Given the description of an element on the screen output the (x, y) to click on. 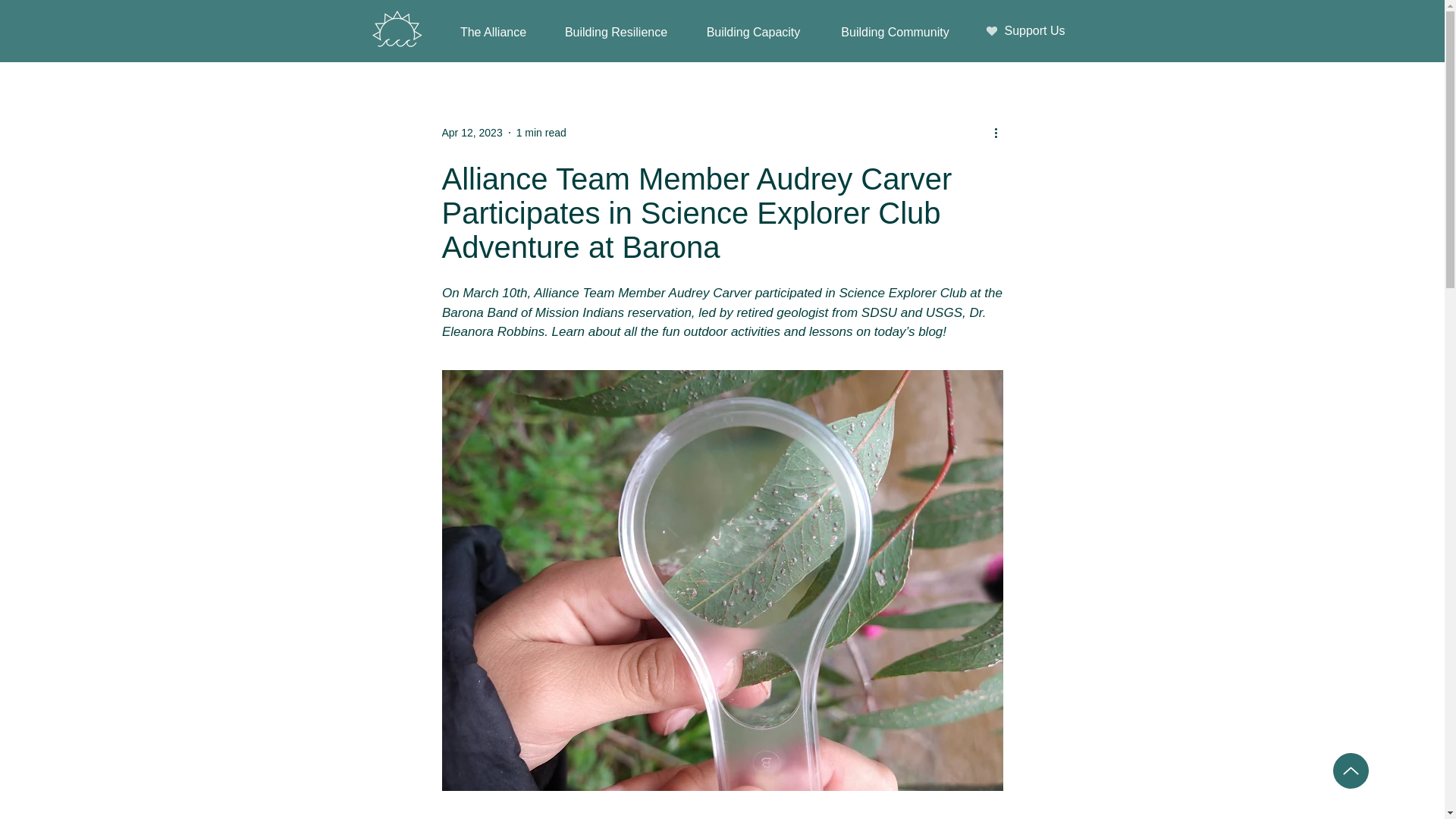
1 min read (541, 132)
Building Resilience (616, 31)
Building Community (896, 31)
Building Capacity (752, 31)
Support Us (1024, 30)
Apr 12, 2023 (471, 132)
